Given the description of an element on the screen output the (x, y) to click on. 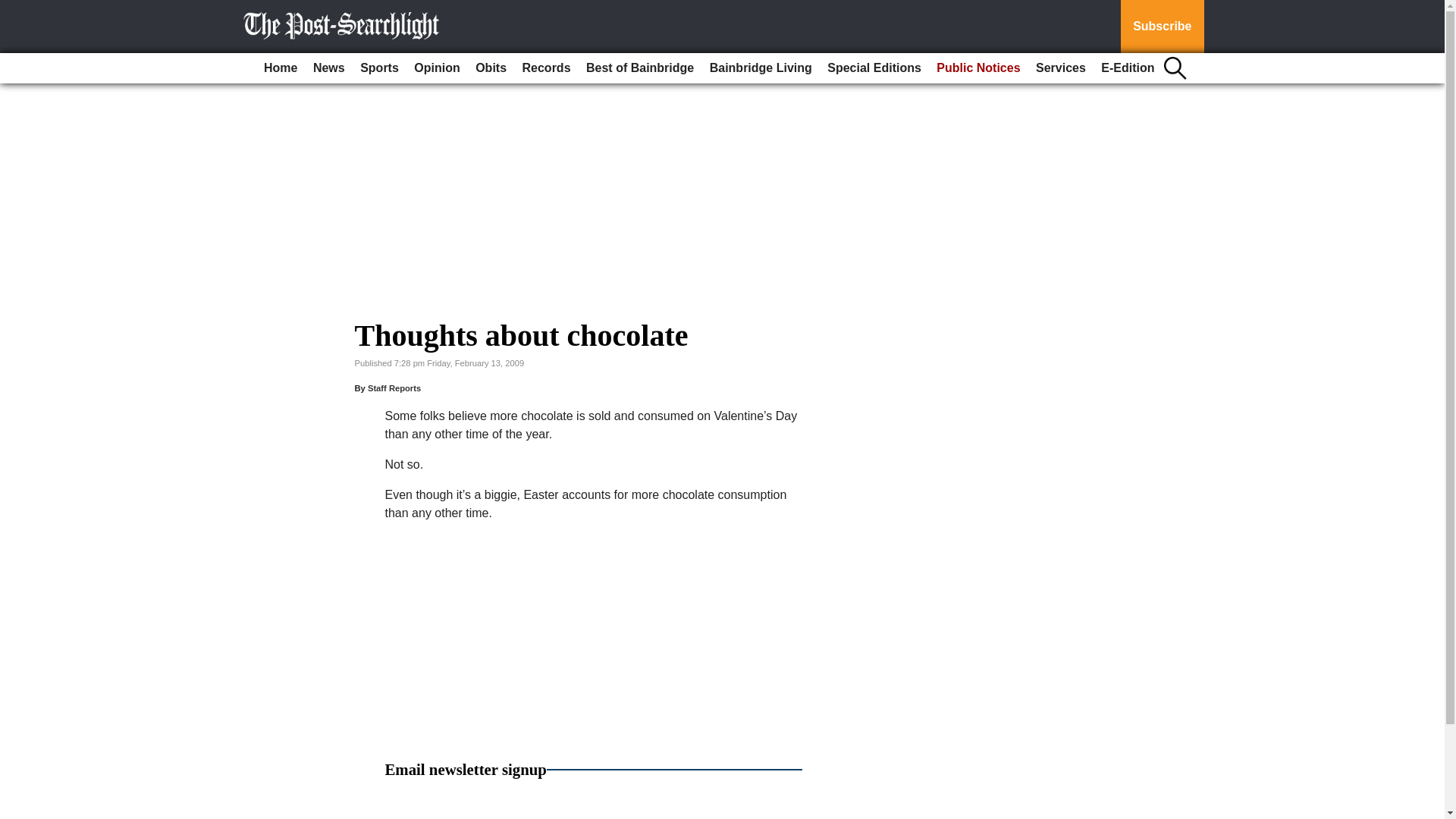
Obits (490, 68)
News (328, 68)
Records (546, 68)
Opinion (436, 68)
Sports (378, 68)
Services (1060, 68)
Subscribe (1162, 26)
Home (279, 68)
Staff Reports (394, 388)
Best of Bainbridge (639, 68)
